Given the description of an element on the screen output the (x, y) to click on. 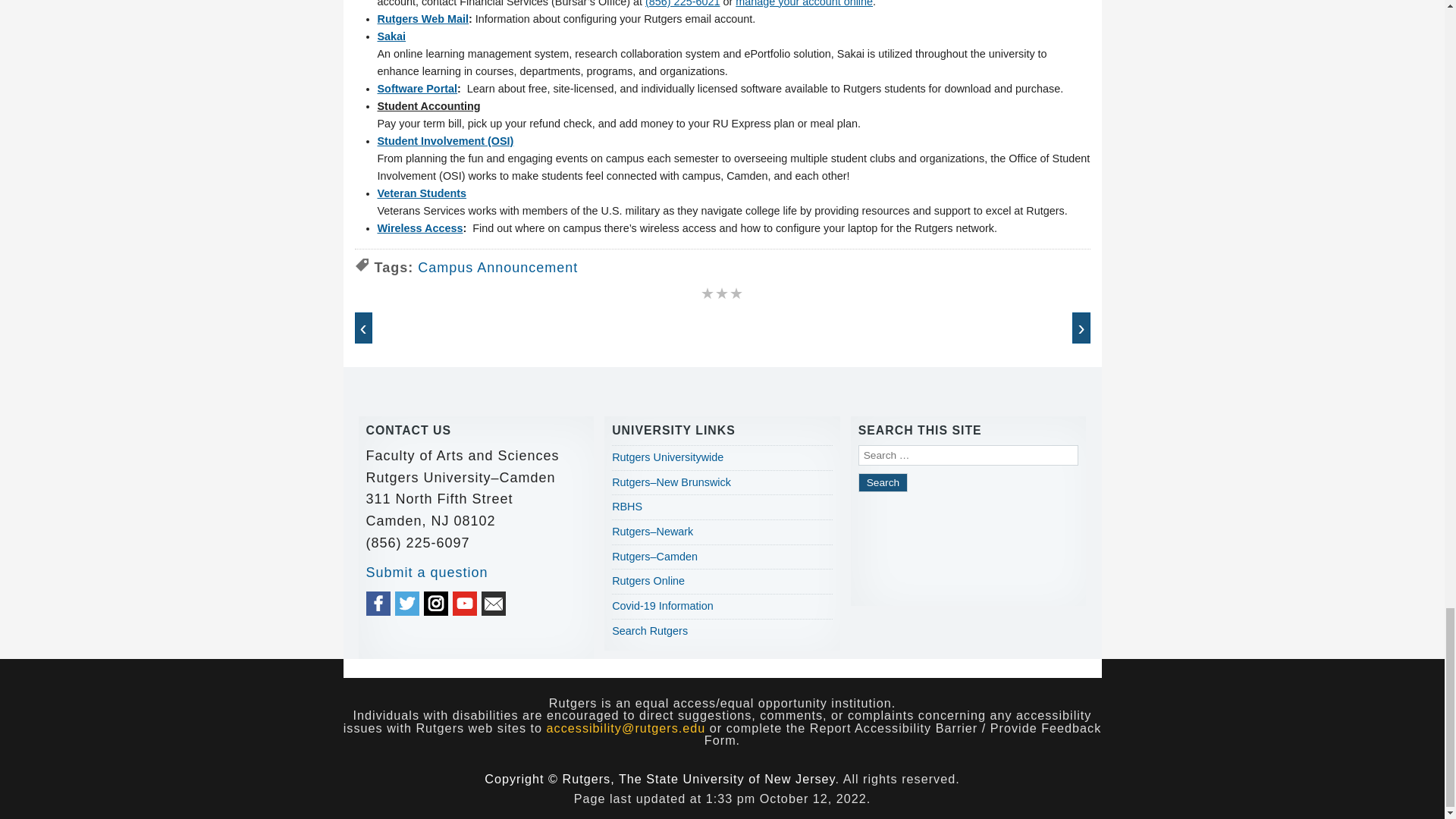
FAS Facebook Page (377, 603)
Search (883, 482)
FAS Instagram (435, 603)
FAS YouTube Channel (464, 603)
FAS Twitter (406, 603)
Search (883, 482)
